Given the description of an element on the screen output the (x, y) to click on. 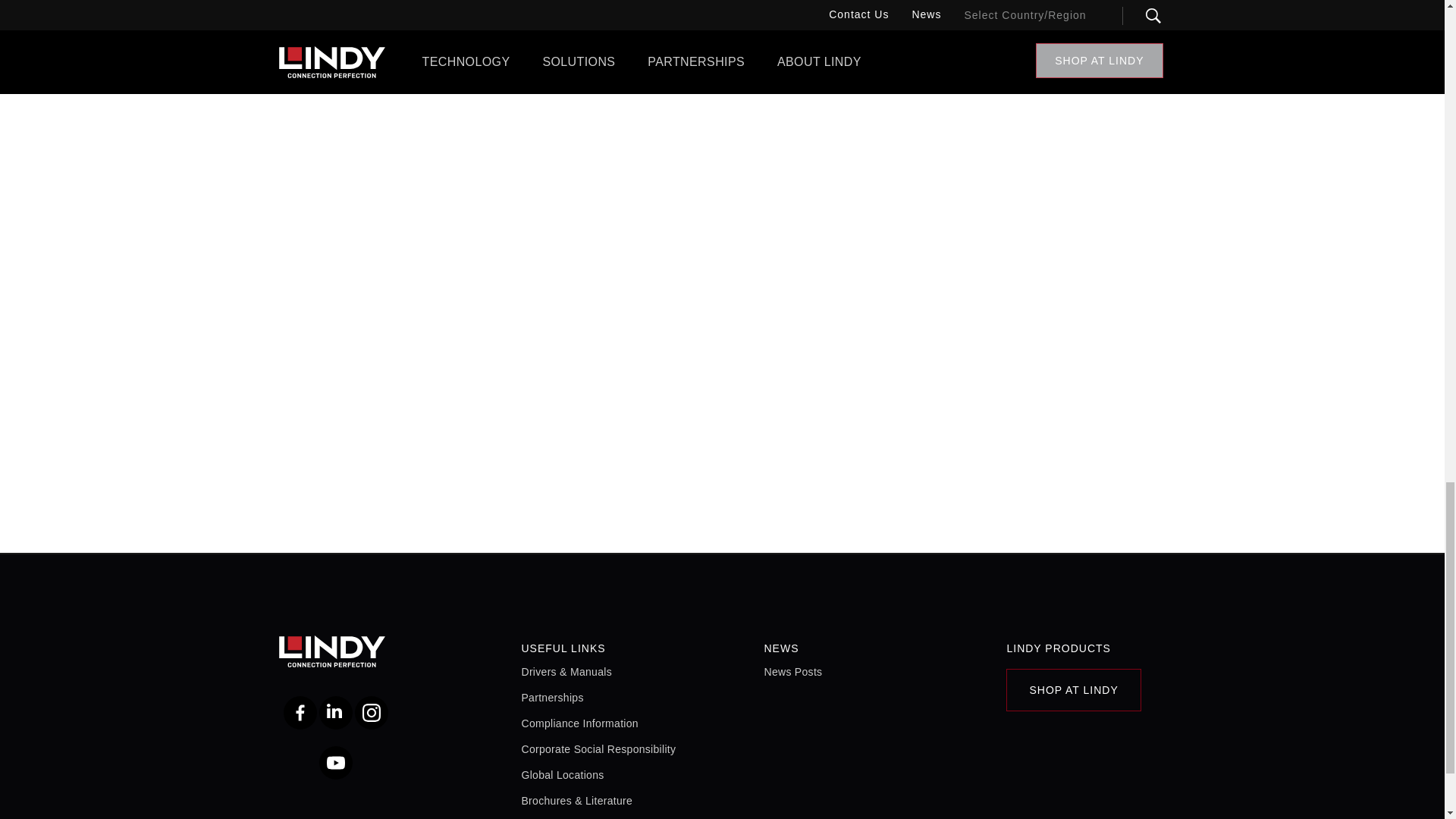
Go to the Lindy homepage (358, 651)
